Given the description of an element on the screen output the (x, y) to click on. 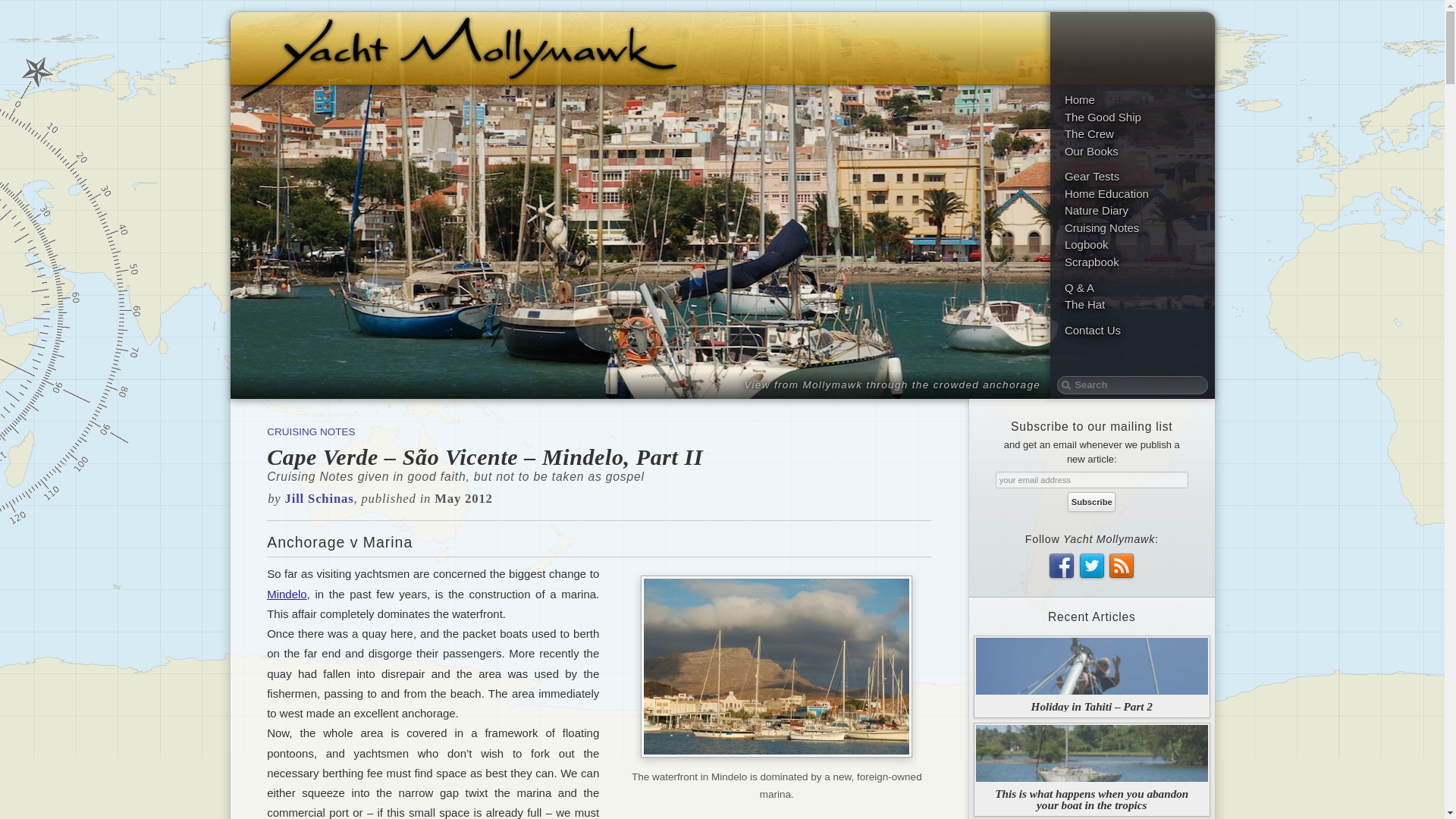
Posts by Jill Schinas (319, 498)
Jill Schinas (319, 498)
Mindelo (286, 593)
CRUISING NOTES (310, 431)
